Given the description of an element on the screen output the (x, y) to click on. 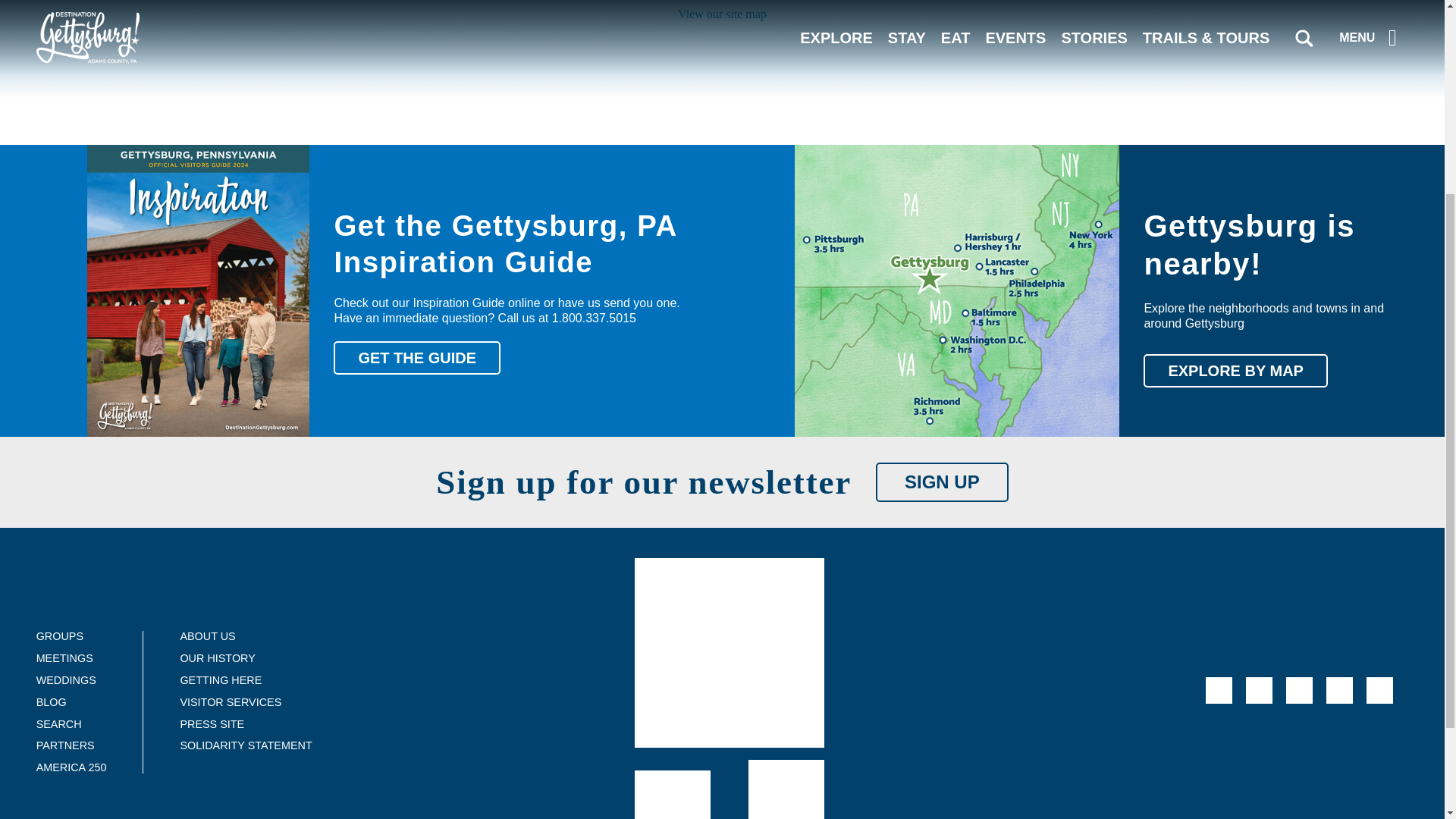
YouTube Channel (1299, 690)
Twitter (1259, 690)
Instagram (1339, 690)
Facebook (1218, 690)
